Given the description of an element on the screen output the (x, y) to click on. 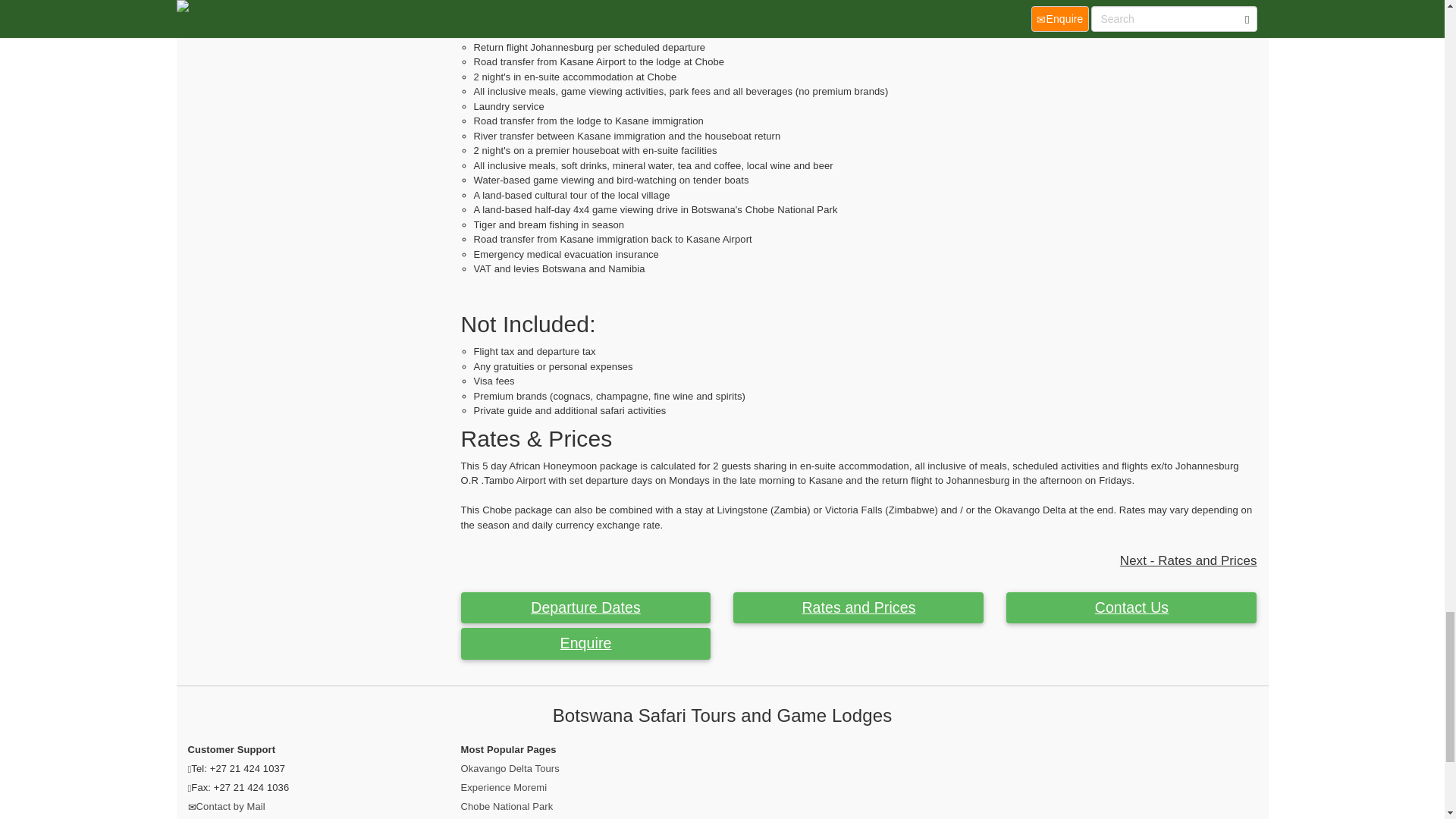
Request Booking (586, 644)
Departure Dates (586, 608)
Rates and Prices (858, 608)
Ask a Question (1131, 608)
Next - Rates and Prices (1188, 560)
Departure Dates (586, 608)
